Given the description of an element on the screen output the (x, y) to click on. 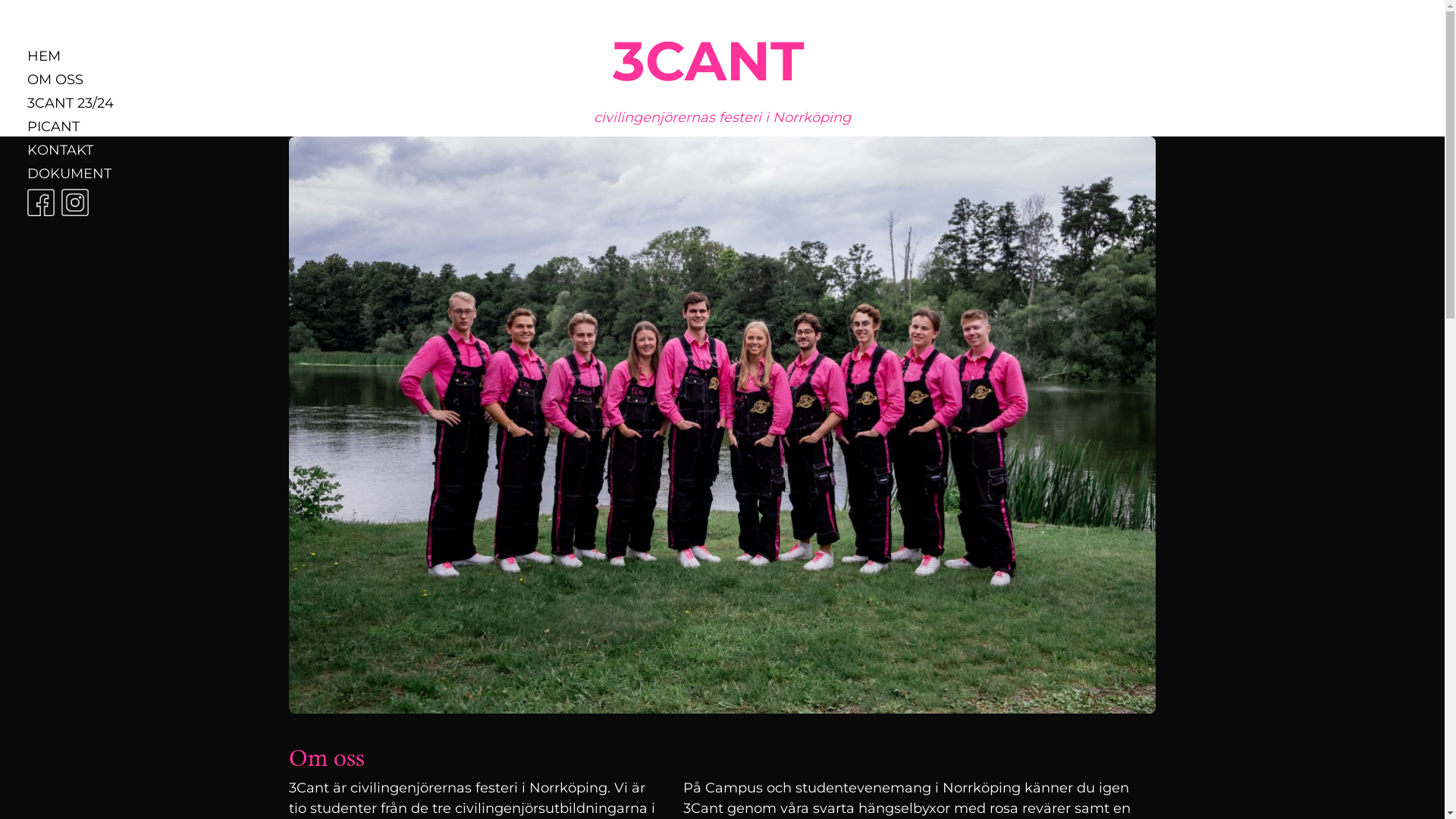
DOKUMENT Element type: text (70, 173)
OM OSS Element type: text (70, 79)
KONTAKT Element type: text (70, 149)
HEM Element type: text (70, 55)
3CANT 23/24 Element type: text (70, 102)
PICANT Element type: text (70, 126)
